Given the description of an element on the screen output the (x, y) to click on. 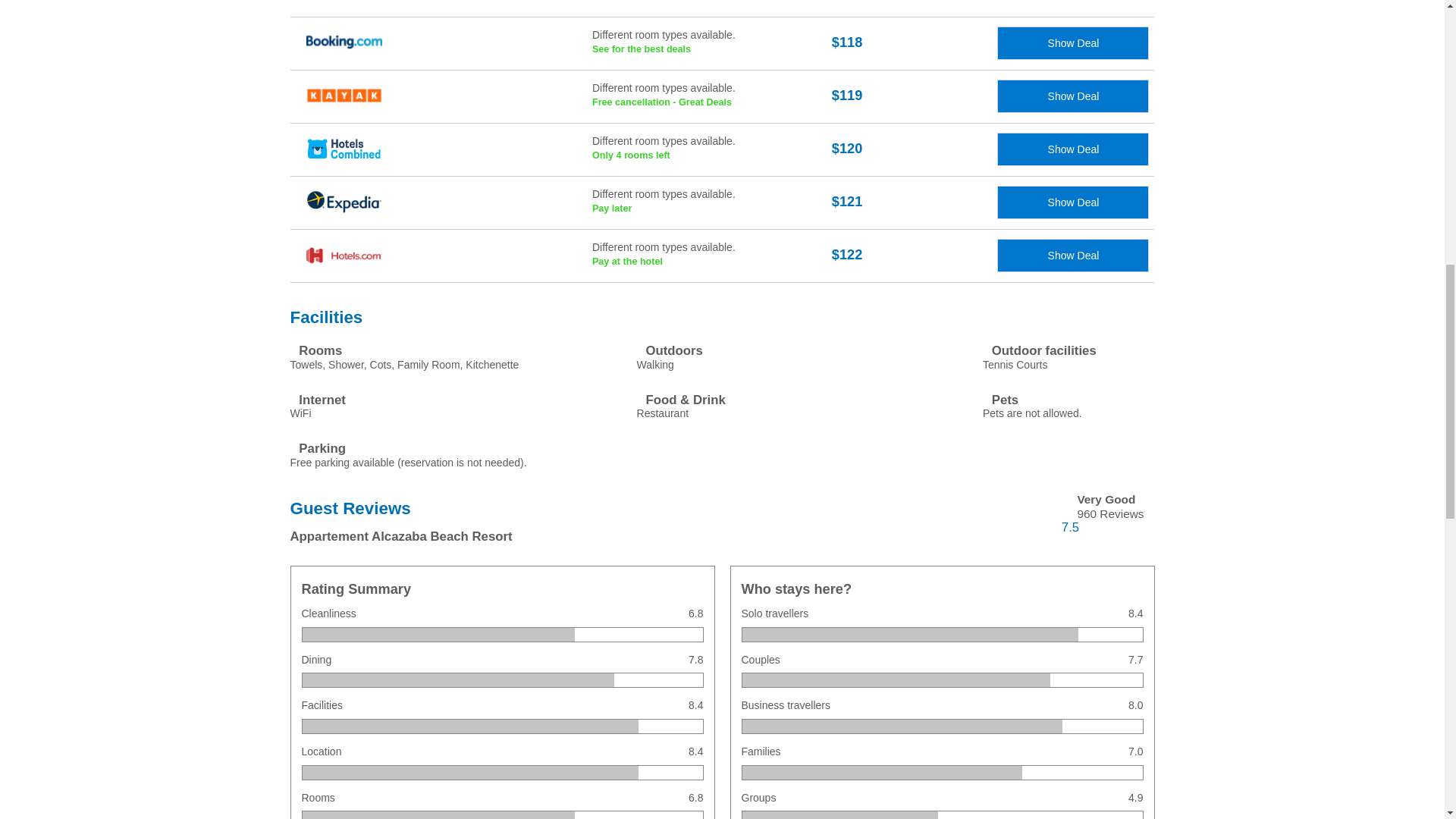
Booking.com (382, 43)
Show Deal (711, 149)
Show Deal (1072, 149)
Show Deal (1072, 42)
Show Deal (711, 43)
